Given the description of an element on the screen output the (x, y) to click on. 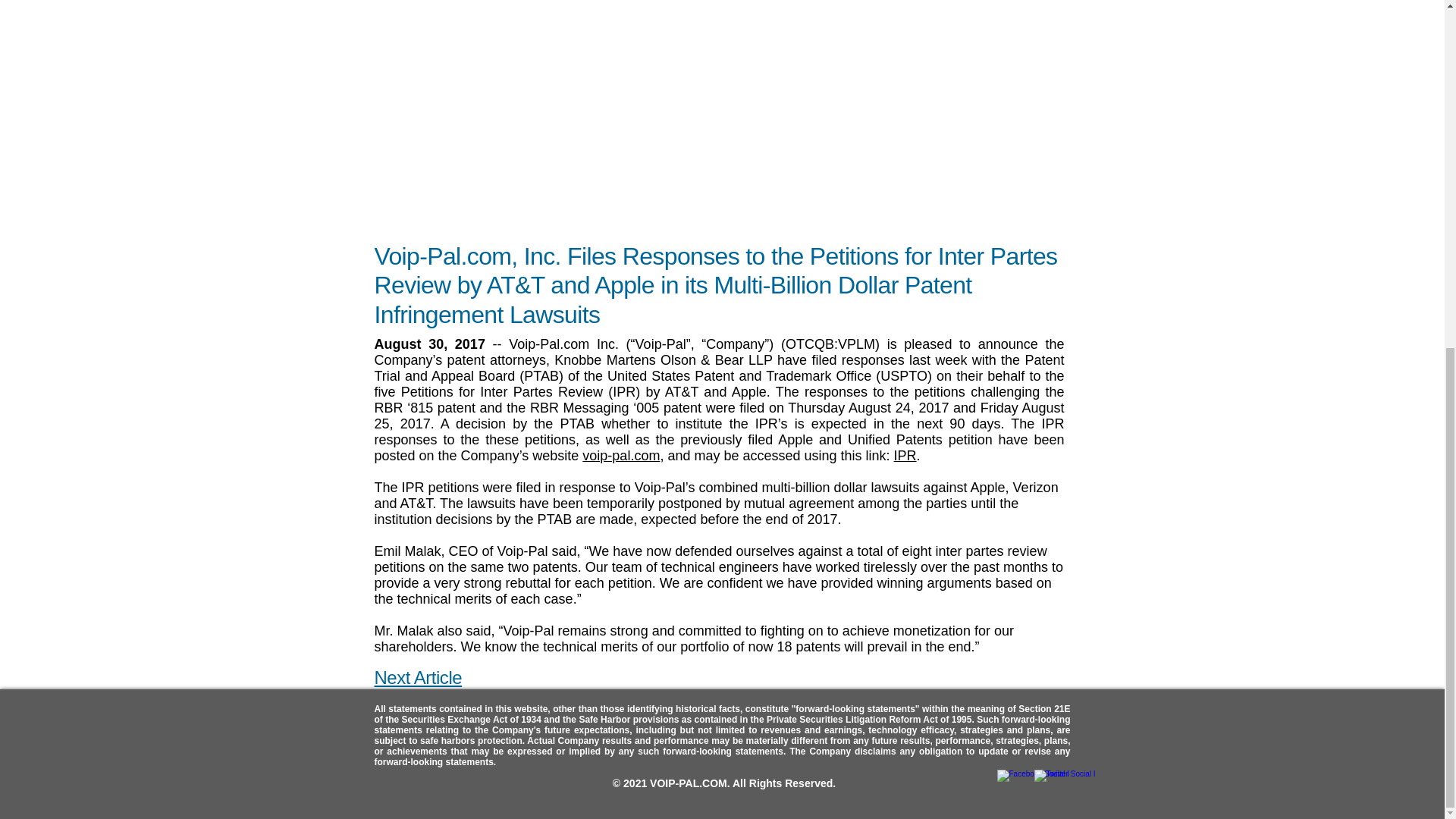
IPR (905, 455)
voip-pal.com (620, 455)
Next Article (418, 677)
